Given the description of an element on the screen output the (x, y) to click on. 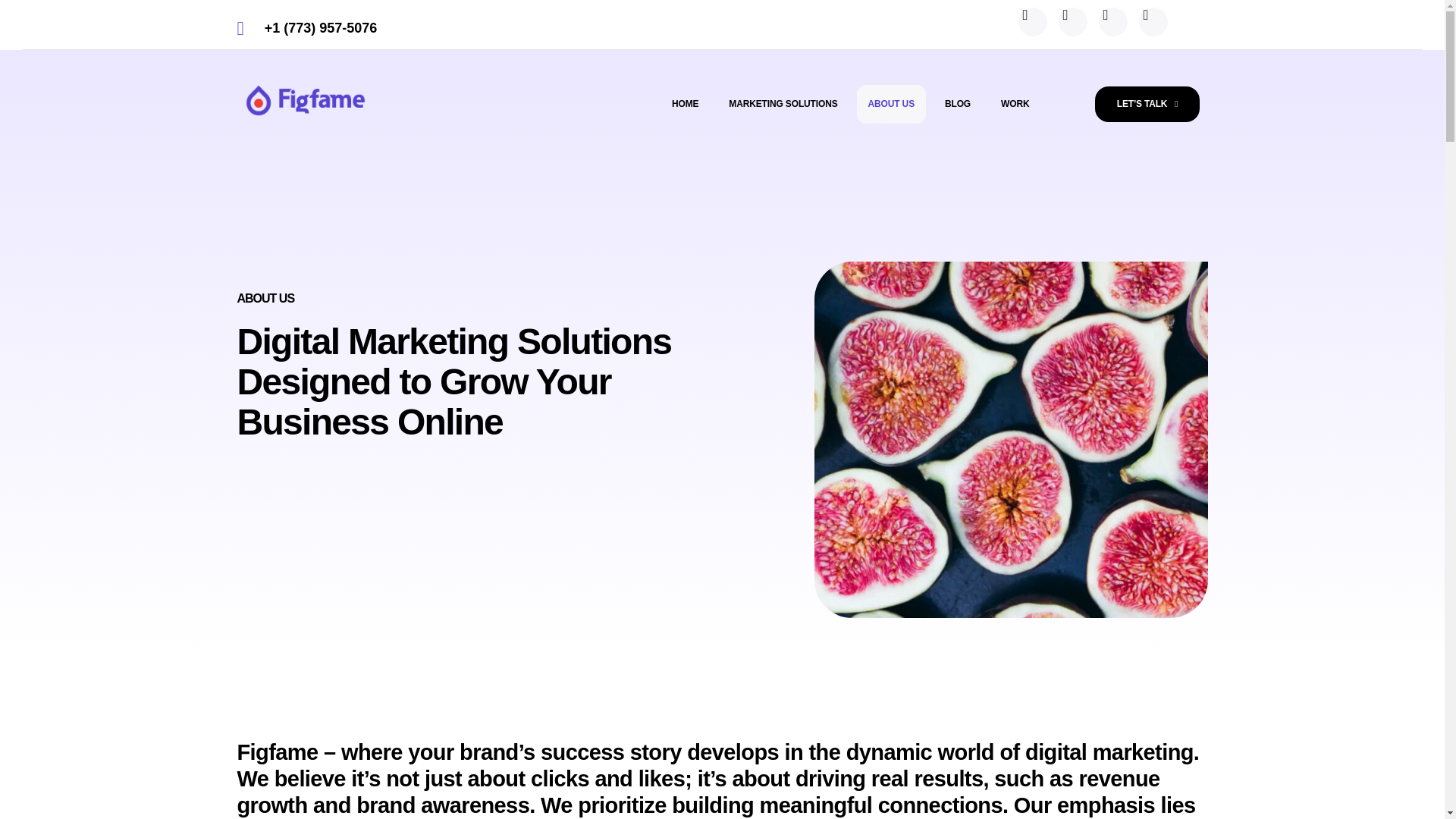
MARKETING SOLUTIONS (782, 104)
BLOG (957, 104)
WORK (1015, 104)
HOME (685, 104)
ABOUT US (891, 104)
